Given the description of an element on the screen output the (x, y) to click on. 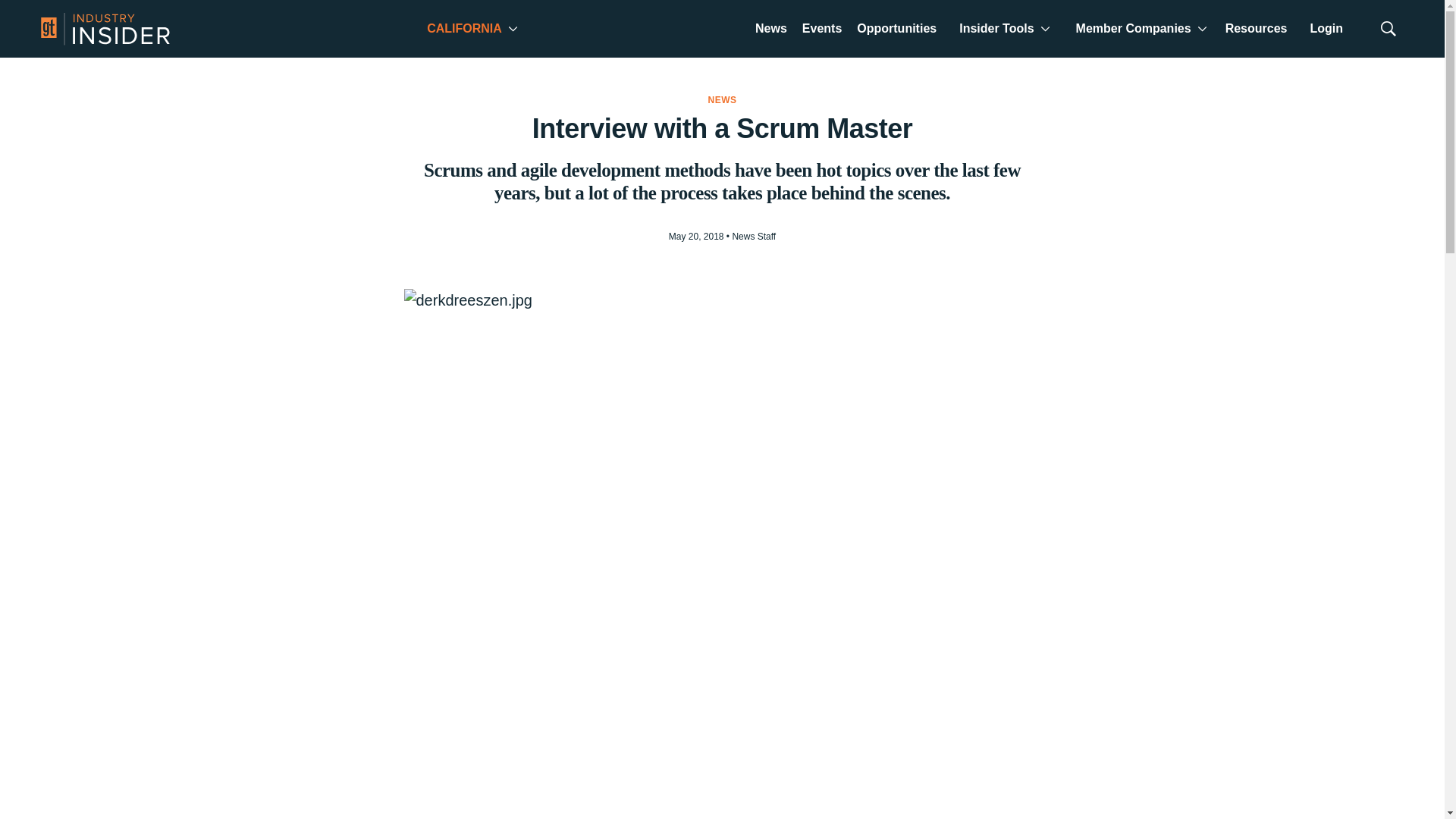
News (771, 30)
Opportunities (895, 30)
Events (821, 30)
